Given the description of an element on the screen output the (x, y) to click on. 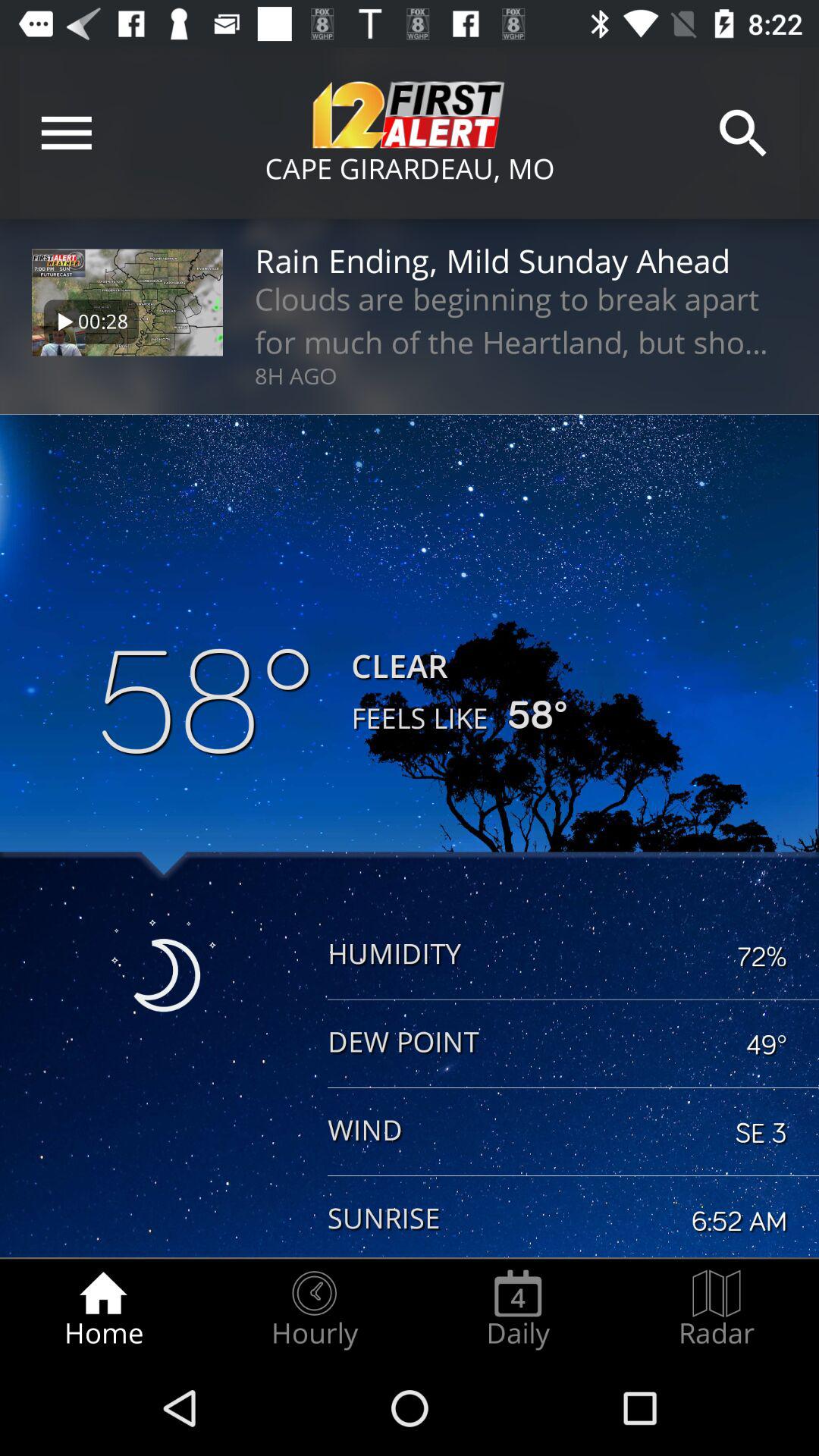
tap item to the left of the radar icon (518, 1309)
